Given the description of an element on the screen output the (x, y) to click on. 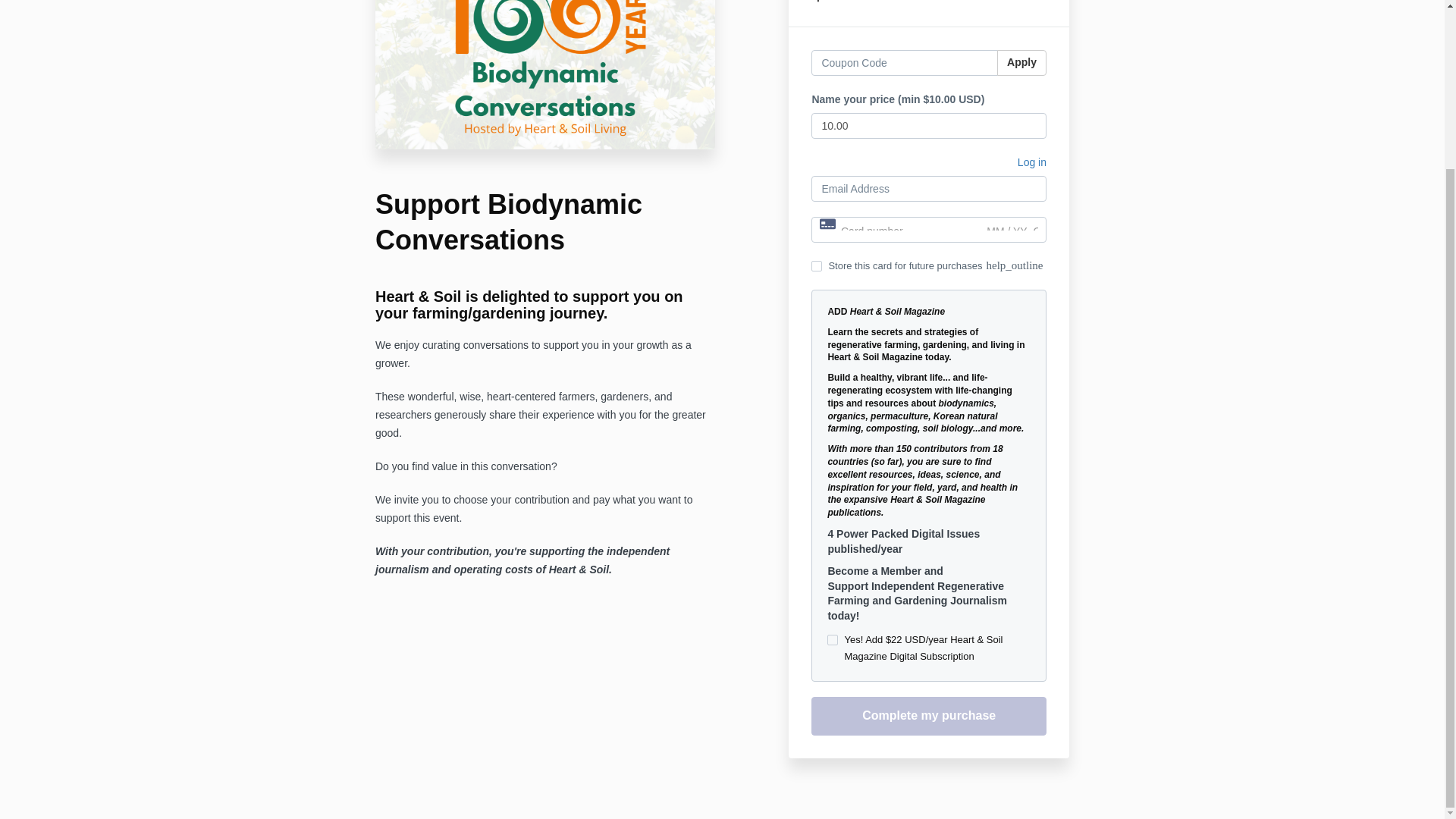
Log in (1031, 164)
1 (832, 639)
1 (816, 266)
10.00 (928, 125)
Complete my purchase (928, 715)
Secure card payment input frame (928, 230)
Complete my purchase (928, 715)
Apply (1021, 62)
